Given the description of an element on the screen output the (x, y) to click on. 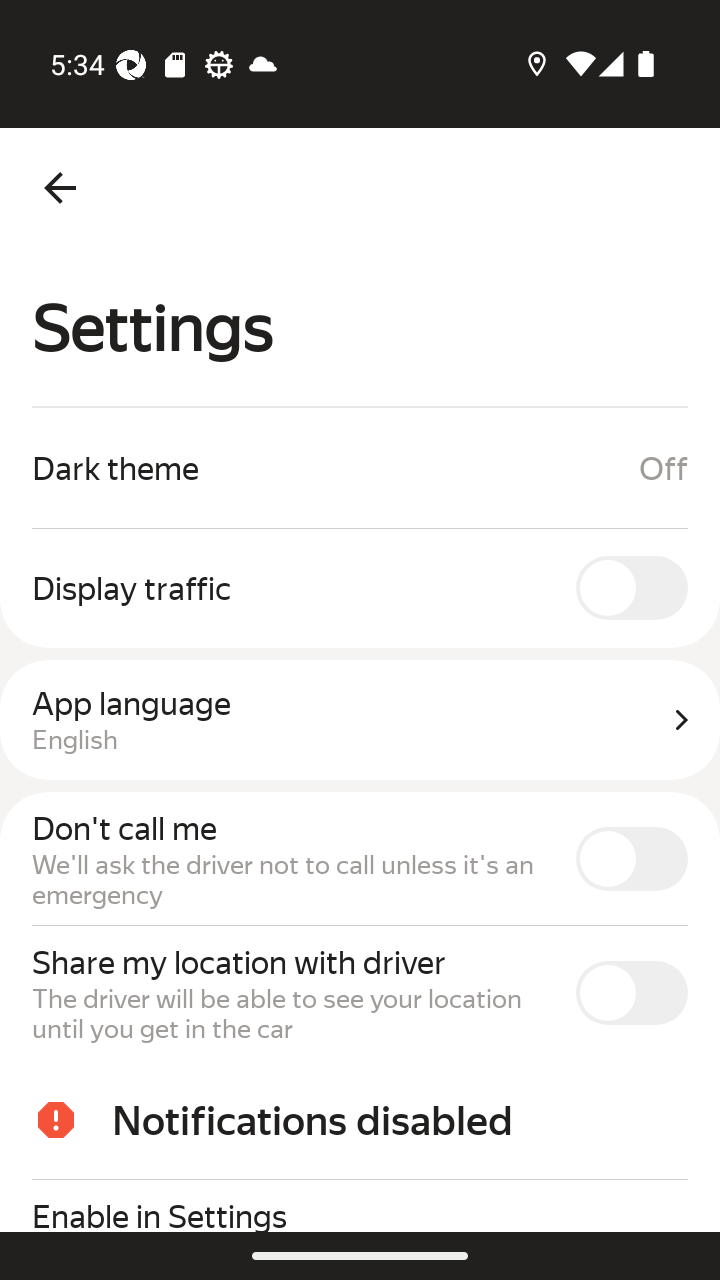
Back (60, 188)
Dark theme Dark theme Off Off (360, 467)
Display traffic (360, 587)
App language, English App language English (360, 719)
